Given the description of an element on the screen output the (x, y) to click on. 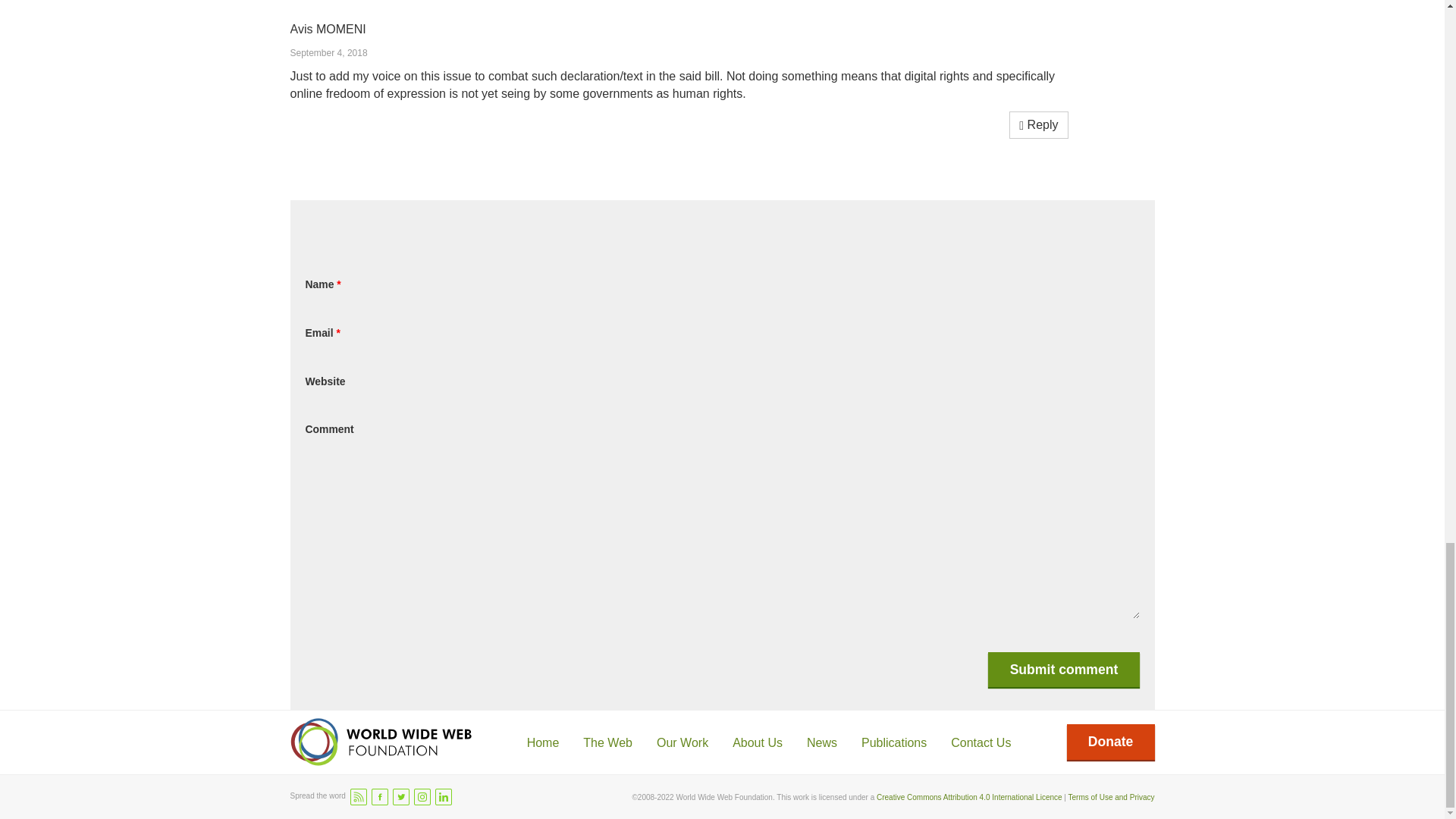
Submit comment (1063, 669)
